Given the description of an element on the screen output the (x, y) to click on. 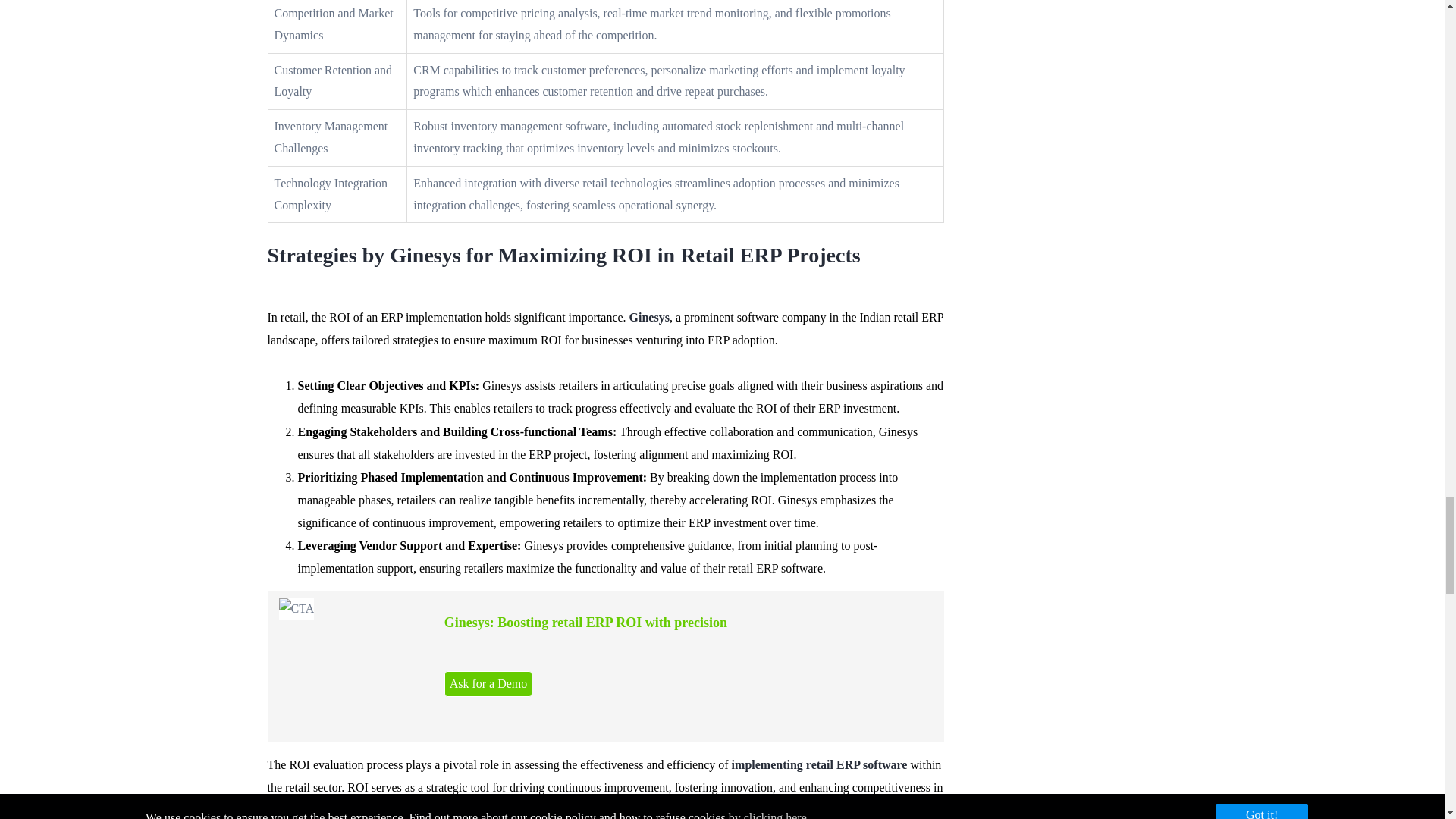
Ask for a Demo (488, 683)
